Given the description of an element on the screen output the (x, y) to click on. 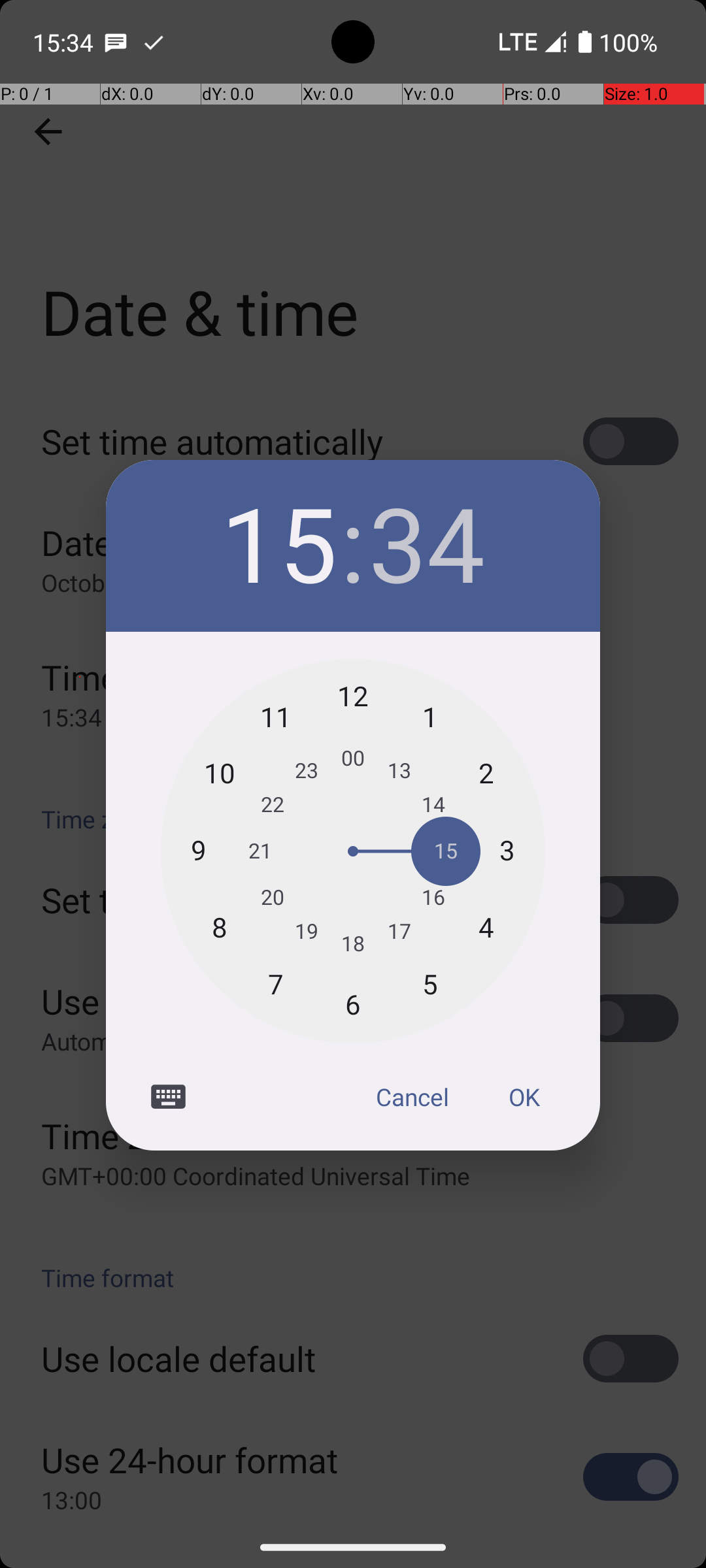
SMS Messenger notification: Daniel Ali Element type: android.widget.ImageView (115, 41)
